Given the description of an element on the screen output the (x, y) to click on. 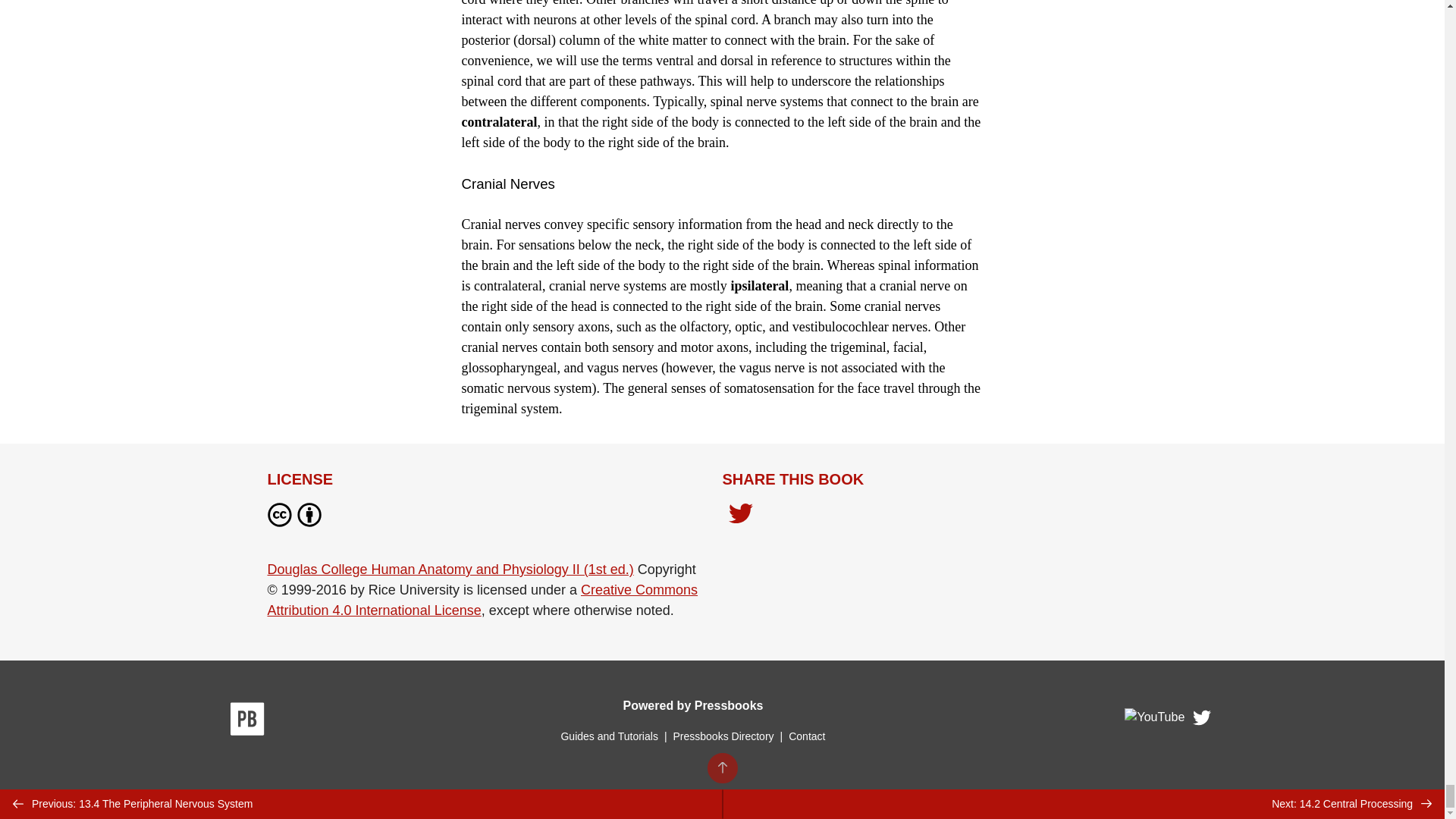
Share on Twitter (740, 517)
Share on Twitter (740, 514)
Creative Commons Attribution 4.0 International License (481, 600)
